Given the description of an element on the screen output the (x, y) to click on. 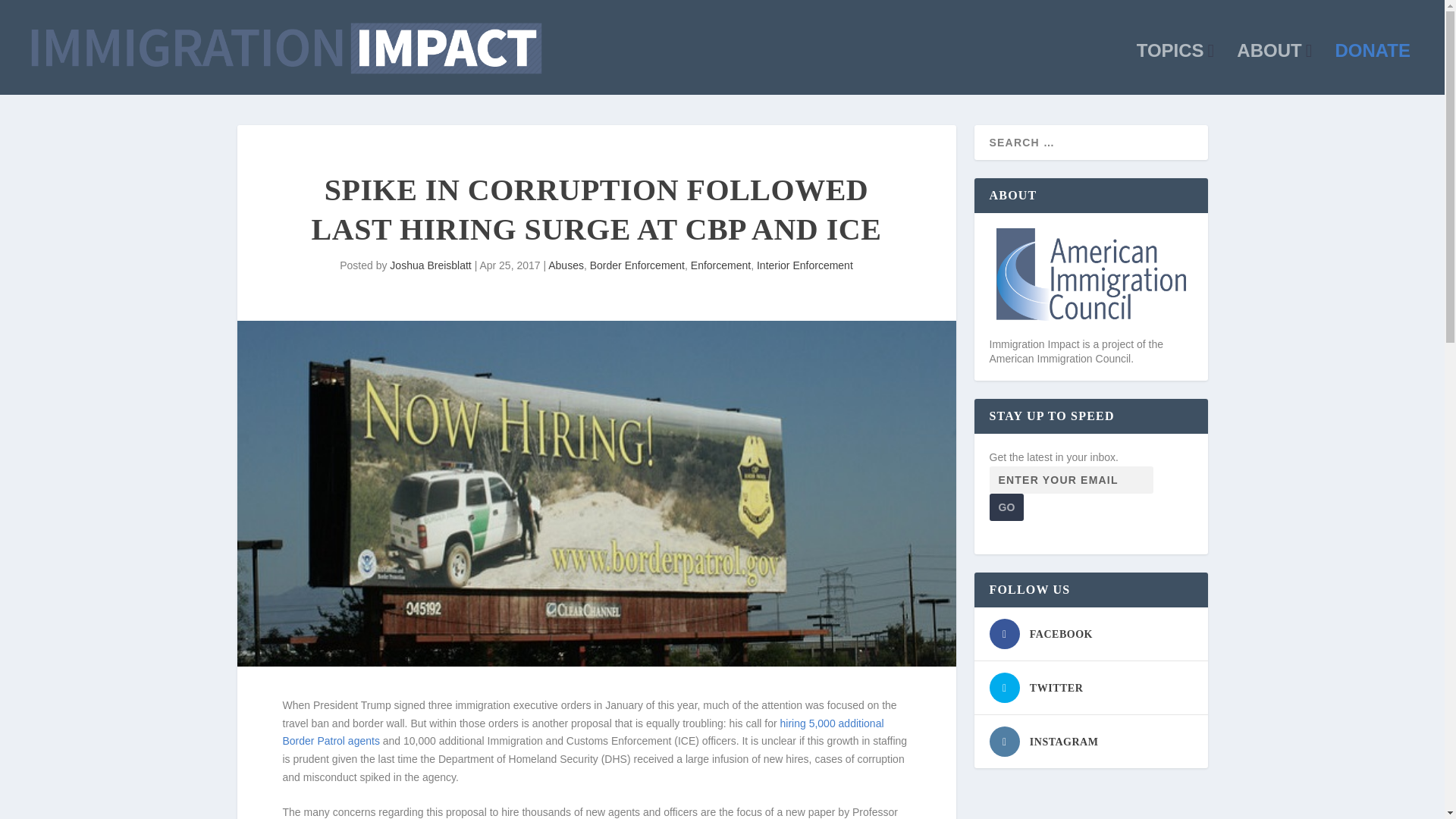
Abuses (565, 265)
Joshua Breisblatt (430, 265)
TOPICS (1175, 69)
GO (1005, 506)
DONATE (1372, 69)
ABOUT (1273, 69)
Enforcement (720, 265)
Interior Enforcement (805, 265)
Border Enforcement (636, 265)
hiring 5,000 additional Border Patrol agents (582, 732)
Posts by Joshua Breisblatt (430, 265)
